Given the description of an element on the screen output the (x, y) to click on. 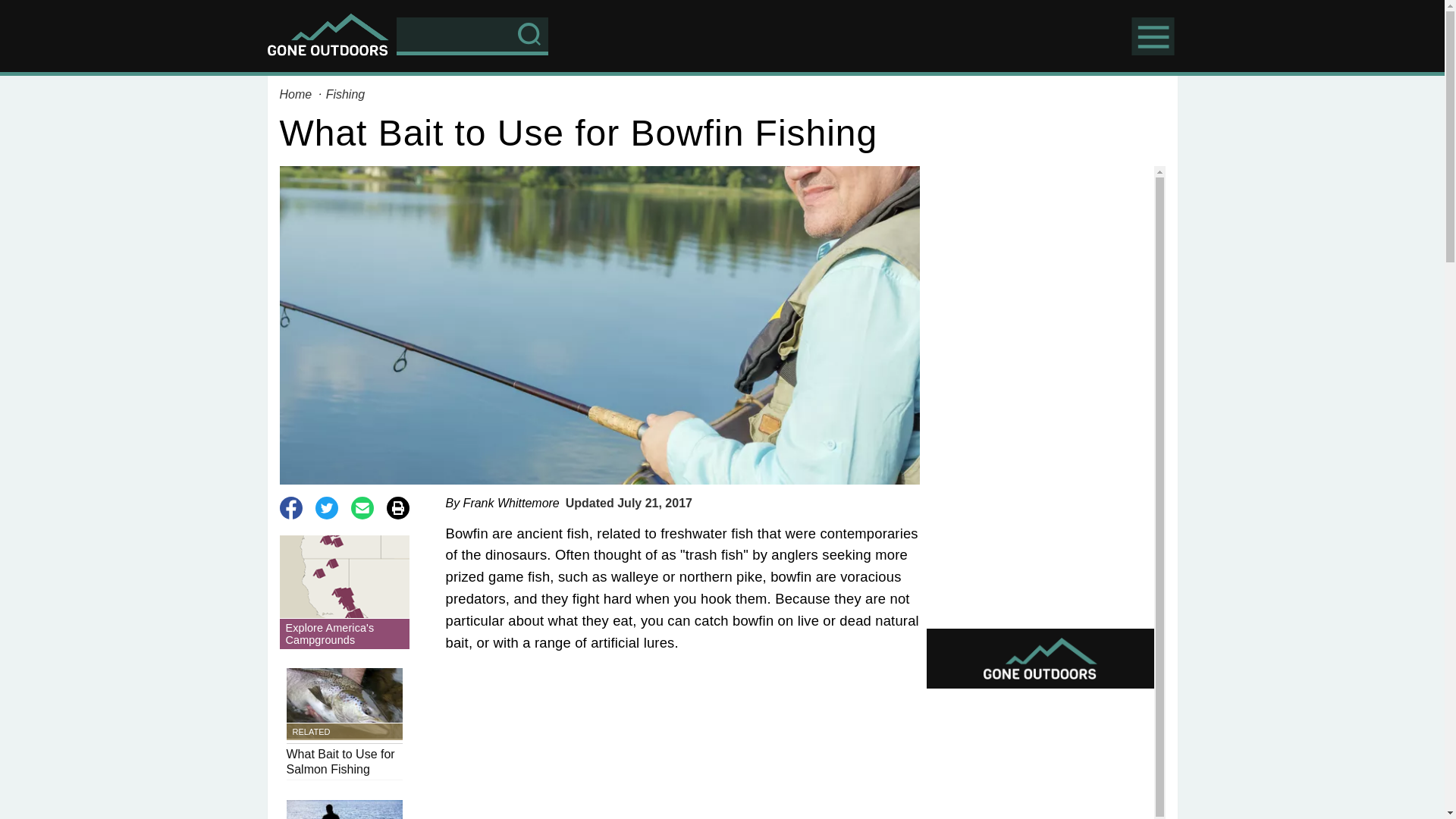
Fishing (345, 93)
Explore America's Campgrounds (345, 724)
Home (344, 592)
Menu (296, 93)
